Given the description of an element on the screen output the (x, y) to click on. 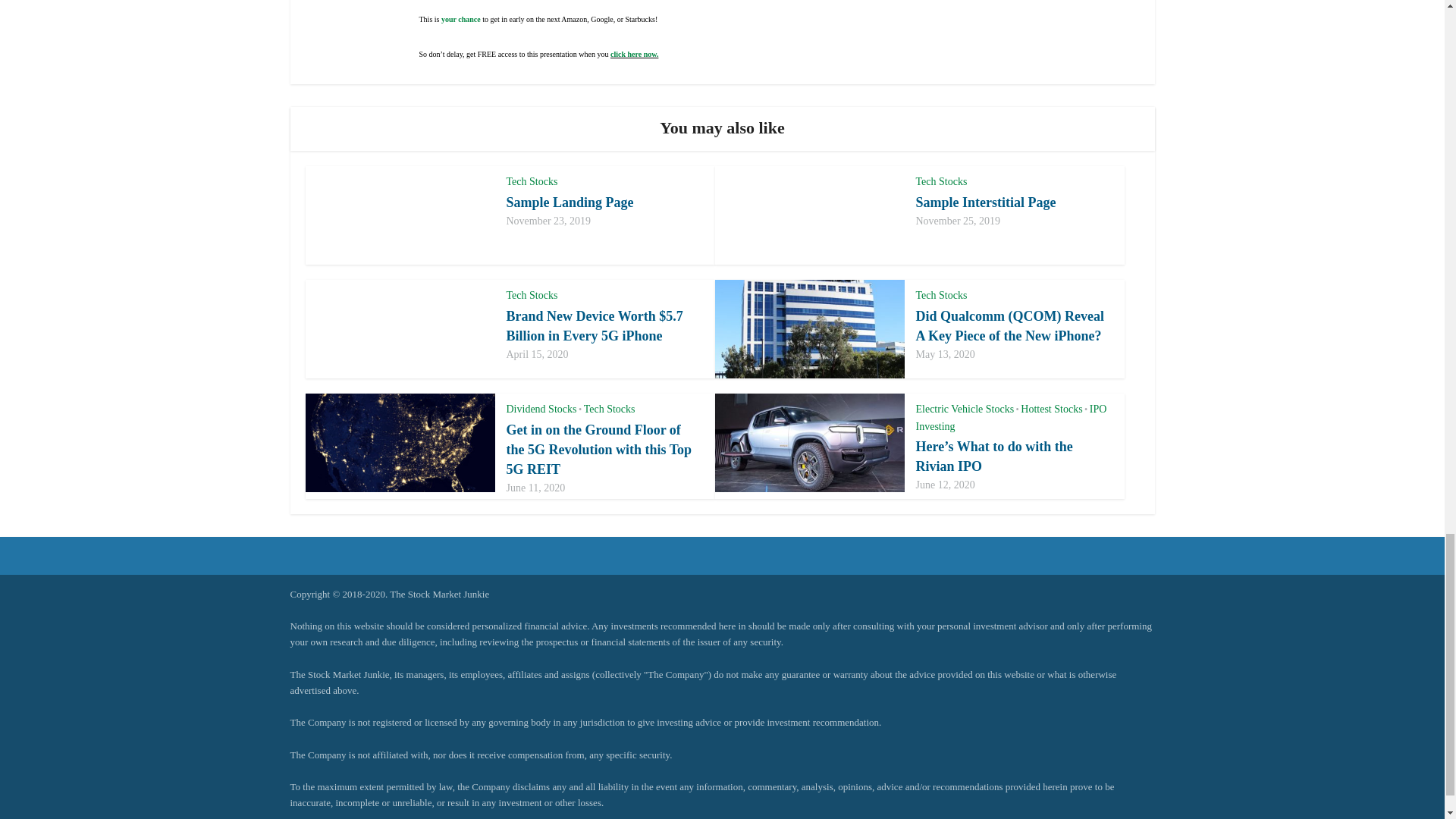
click here now. (634, 53)
Sample Landing Page (569, 201)
Tech Stocks (531, 295)
Electric Vehicle Stocks (964, 408)
IPO Investing (1010, 417)
Tech Stocks (608, 408)
Tech Stocks (941, 181)
Hottest Stocks (1050, 408)
Dividend Stocks (541, 408)
